Given the description of an element on the screen output the (x, y) to click on. 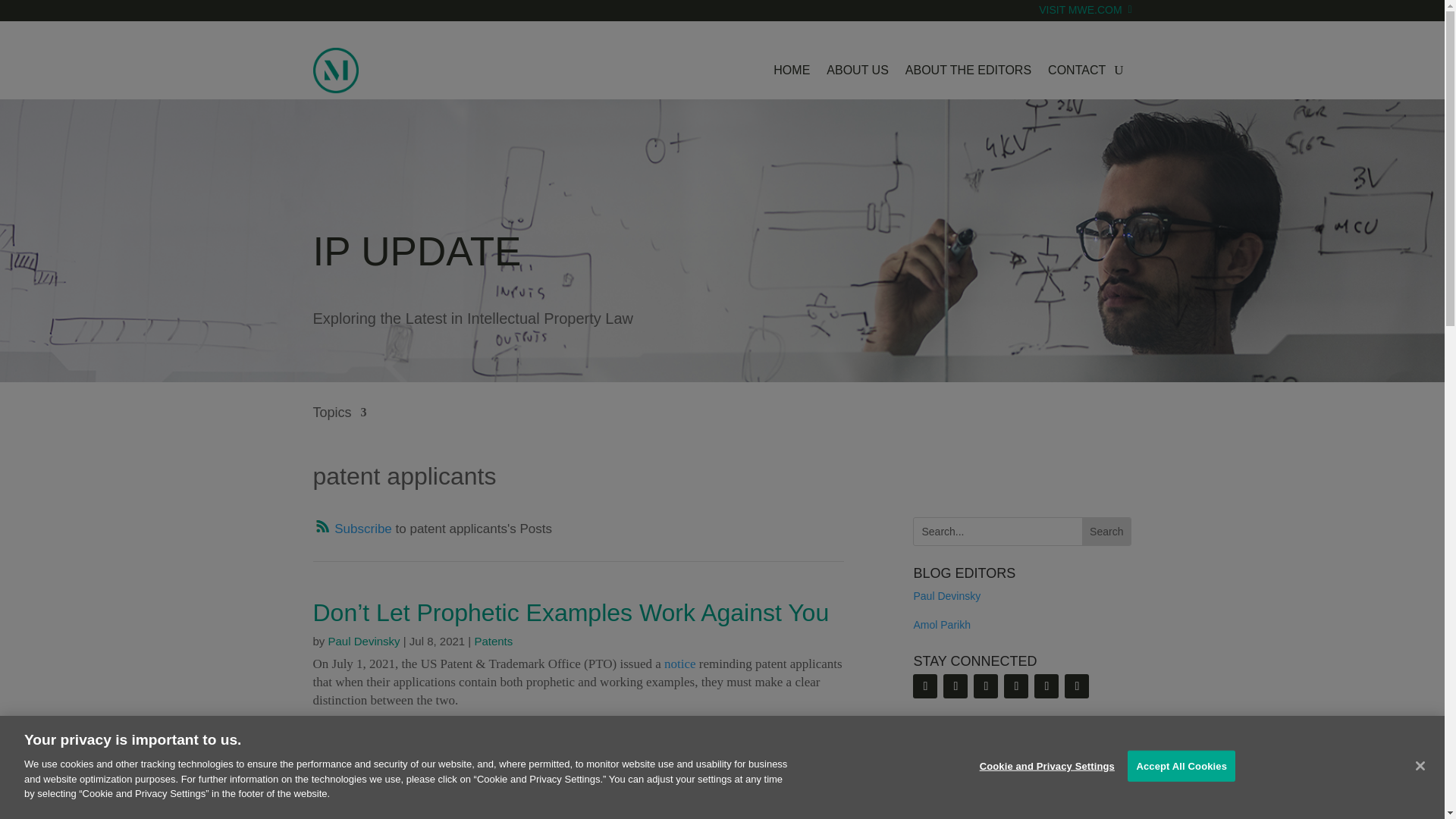
Follow on RSS (924, 686)
Follow on Facebook (1045, 686)
Follow on RSS (352, 528)
Follow on Youtube (1015, 686)
VISIT MWE.COM   (1085, 20)
Posts by Paul Devinsky (364, 640)
ABOUT US (857, 70)
ABOUT THE EDITORS (967, 70)
Search (1106, 531)
Search (1106, 531)
Follow on LinkedIn (955, 686)
CONTACT (1076, 70)
Topics (339, 423)
Follow on X (985, 686)
